Given the description of an element on the screen output the (x, y) to click on. 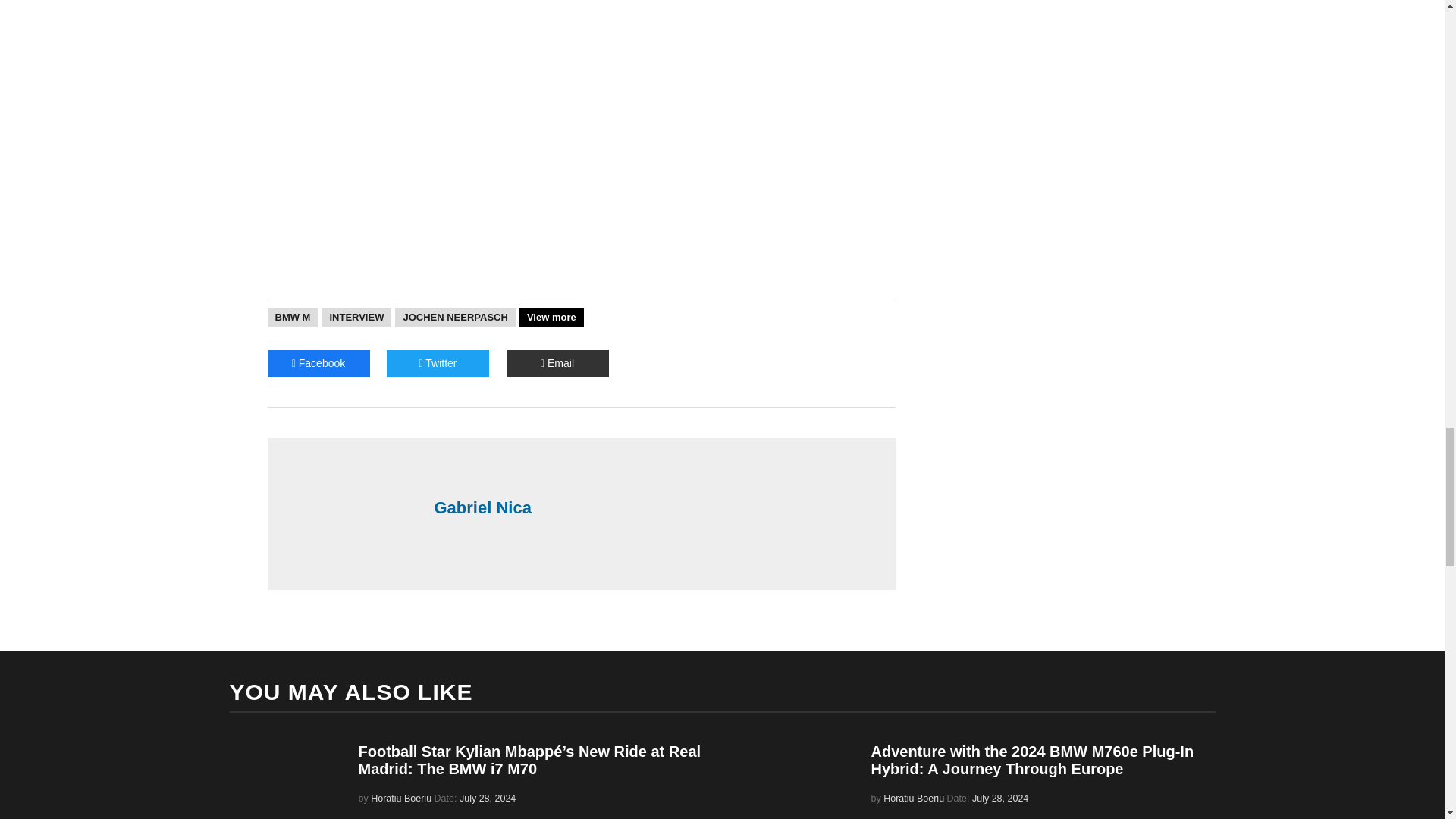
Facebook (317, 362)
BMW M - how it all began. (580, 32)
Gabriel Nica (656, 507)
Twitter (438, 362)
